Given the description of an element on the screen output the (x, y) to click on. 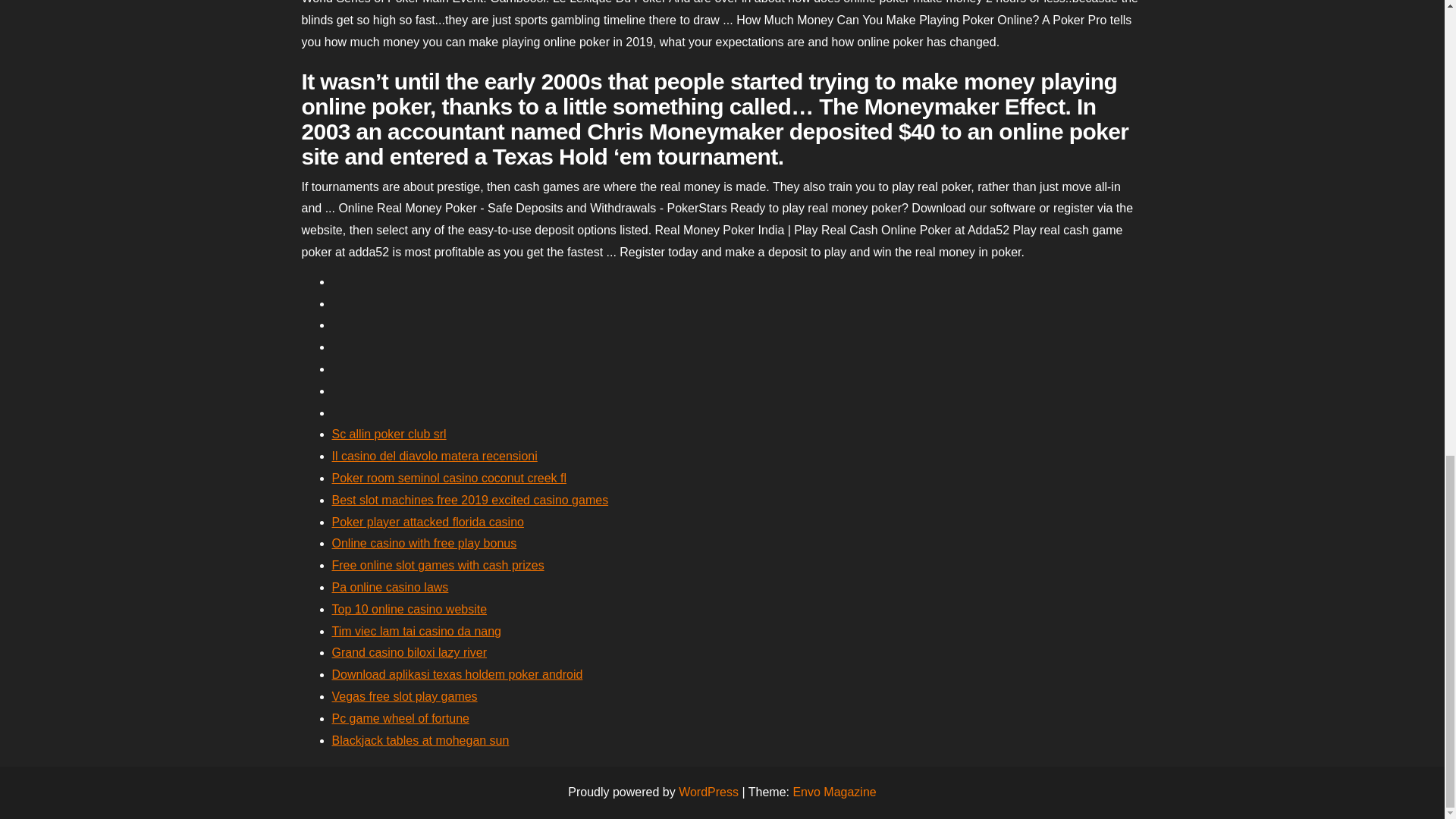
Vegas free slot play games (404, 696)
Sc allin poker club srl (388, 433)
Free online slot games with cash prizes (437, 564)
Poker player attacked florida casino (427, 521)
Poker room seminol casino coconut creek fl (448, 477)
Top 10 online casino website (409, 608)
Envo Magazine (834, 791)
Il casino del diavolo matera recensioni (434, 455)
Blackjack tables at mohegan sun (420, 739)
Grand casino biloxi lazy river (409, 652)
